Given the description of an element on the screen output the (x, y) to click on. 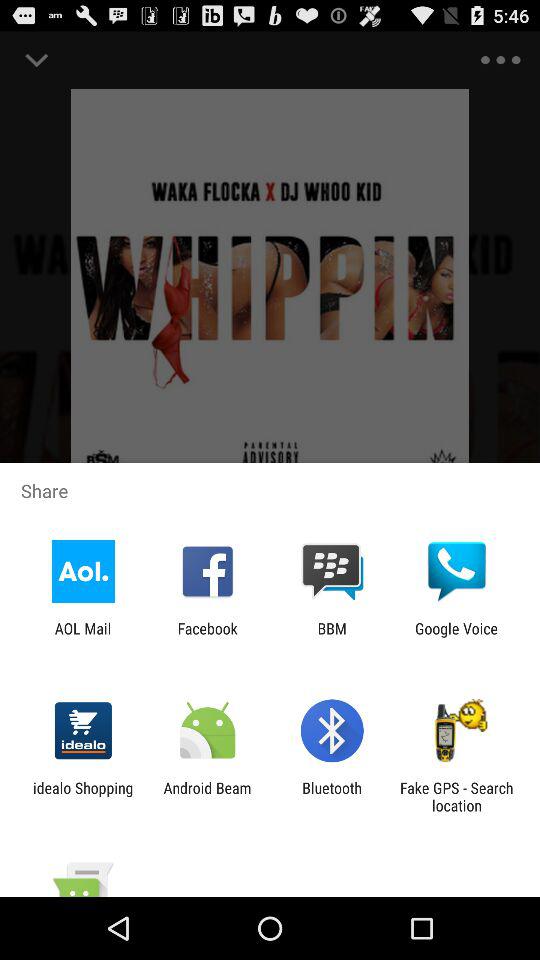
turn off the item to the right of the bbm app (456, 637)
